Given the description of an element on the screen output the (x, y) to click on. 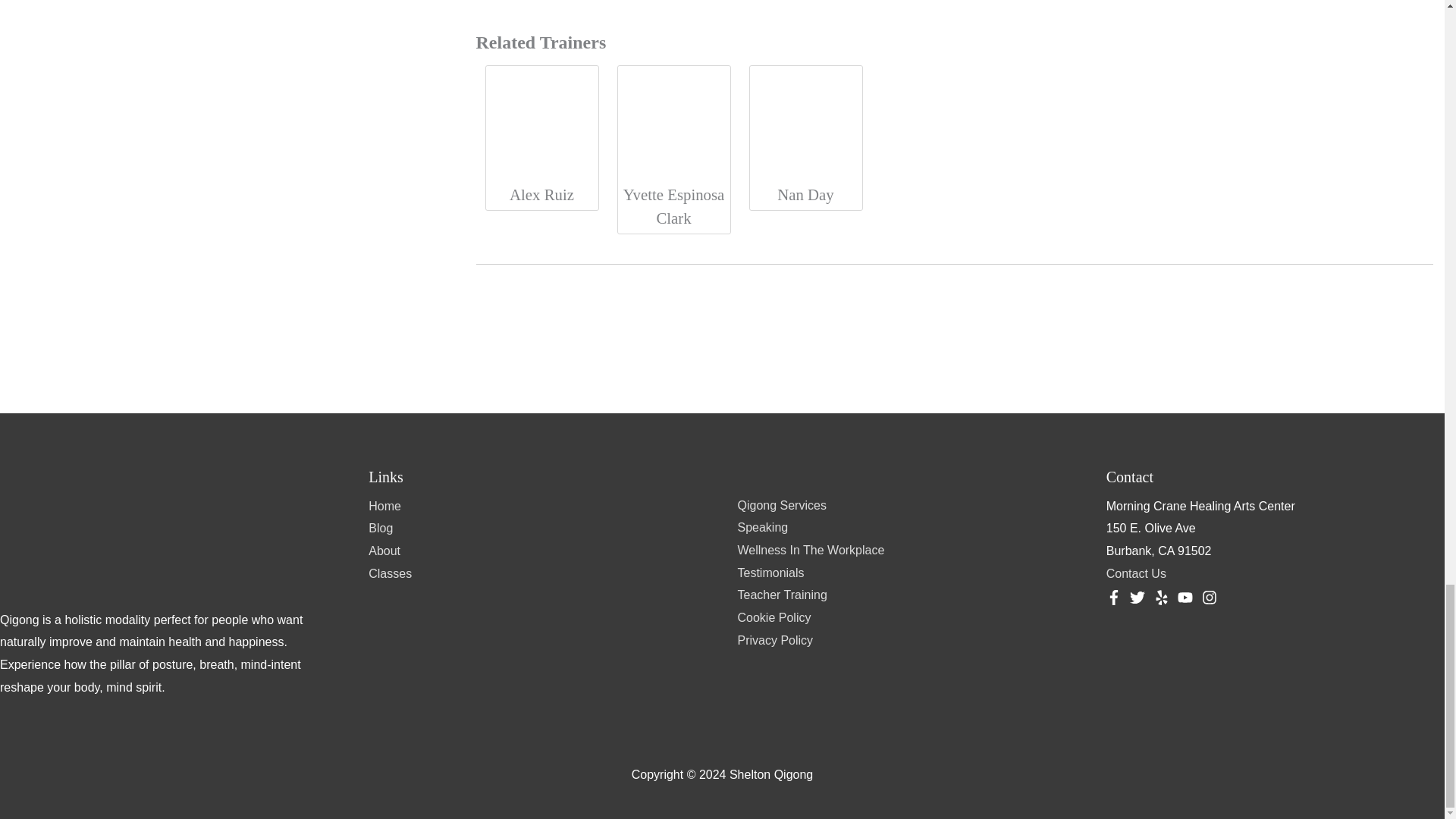
Classes (390, 573)
Blog (380, 527)
About (384, 550)
Home (384, 505)
